Given the description of an element on the screen output the (x, y) to click on. 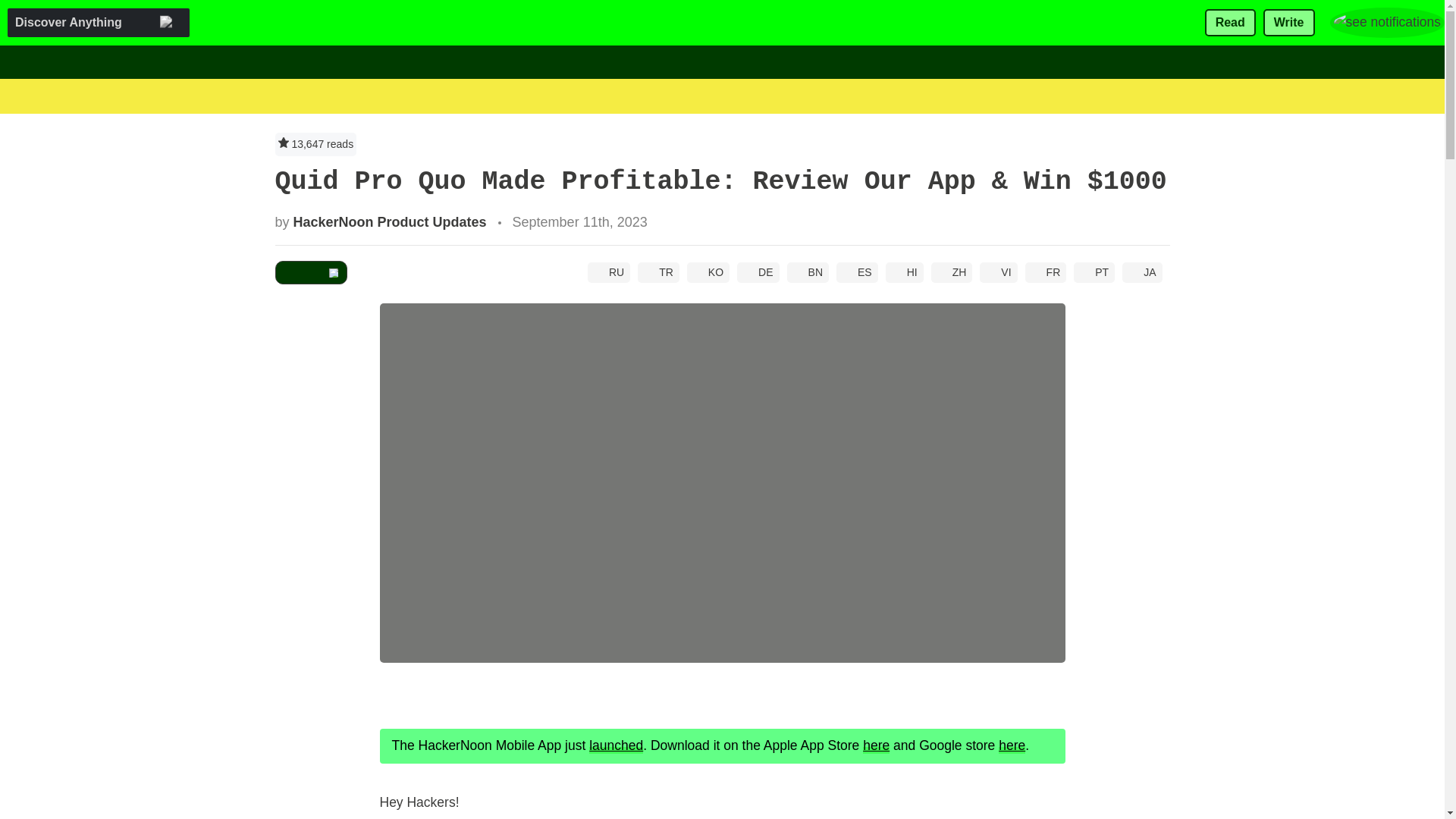
VI (997, 272)
TR (658, 272)
PT (1094, 272)
FR (1046, 272)
RU (609, 272)
HackerNoon Product Updates (390, 222)
ZH (951, 272)
BN (807, 272)
JA (1141, 272)
KO (708, 272)
